Given the description of an element on the screen output the (x, y) to click on. 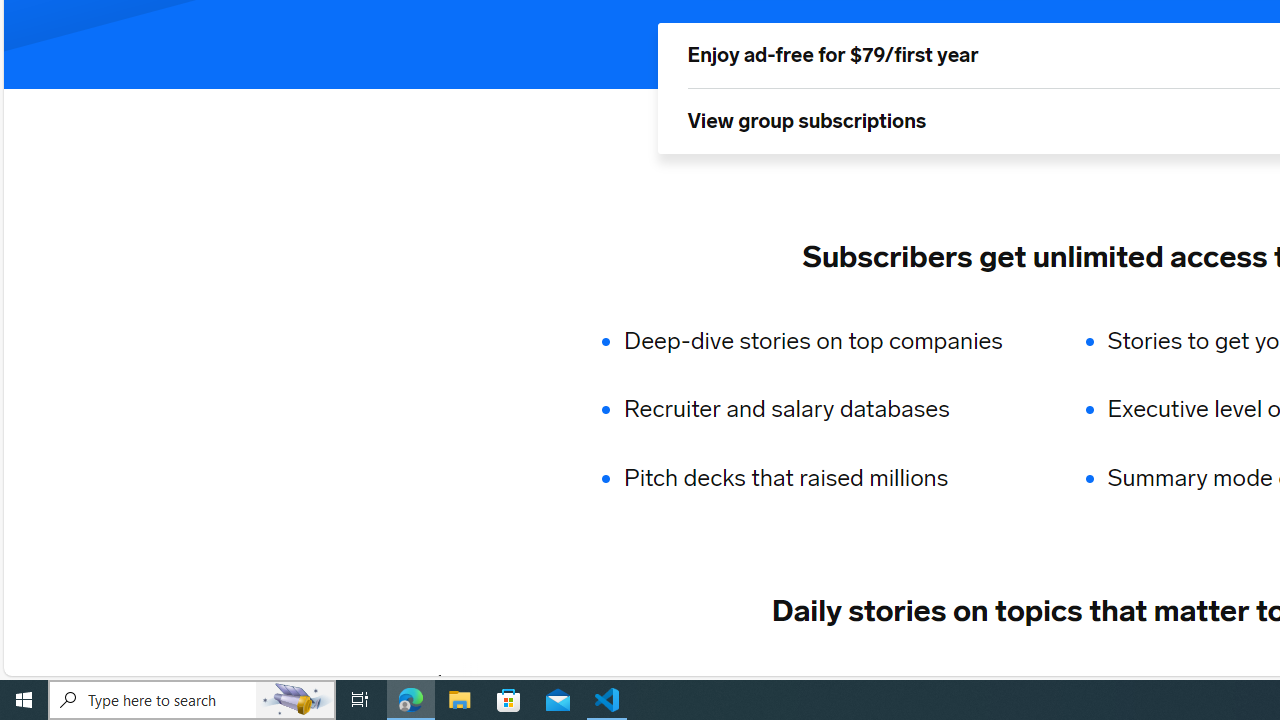
FINANCE (853, 681)
HEALTHCARE (1195, 681)
Recruiter and salary databases (825, 409)
Pitch decks that raised millions (825, 478)
ADVERTISING (615, 681)
TECH (492, 681)
PERSONAL FINANCE (1016, 681)
Deep-dive stories on top companies (825, 340)
RETAIL (744, 681)
